Given the description of an element on the screen output the (x, y) to click on. 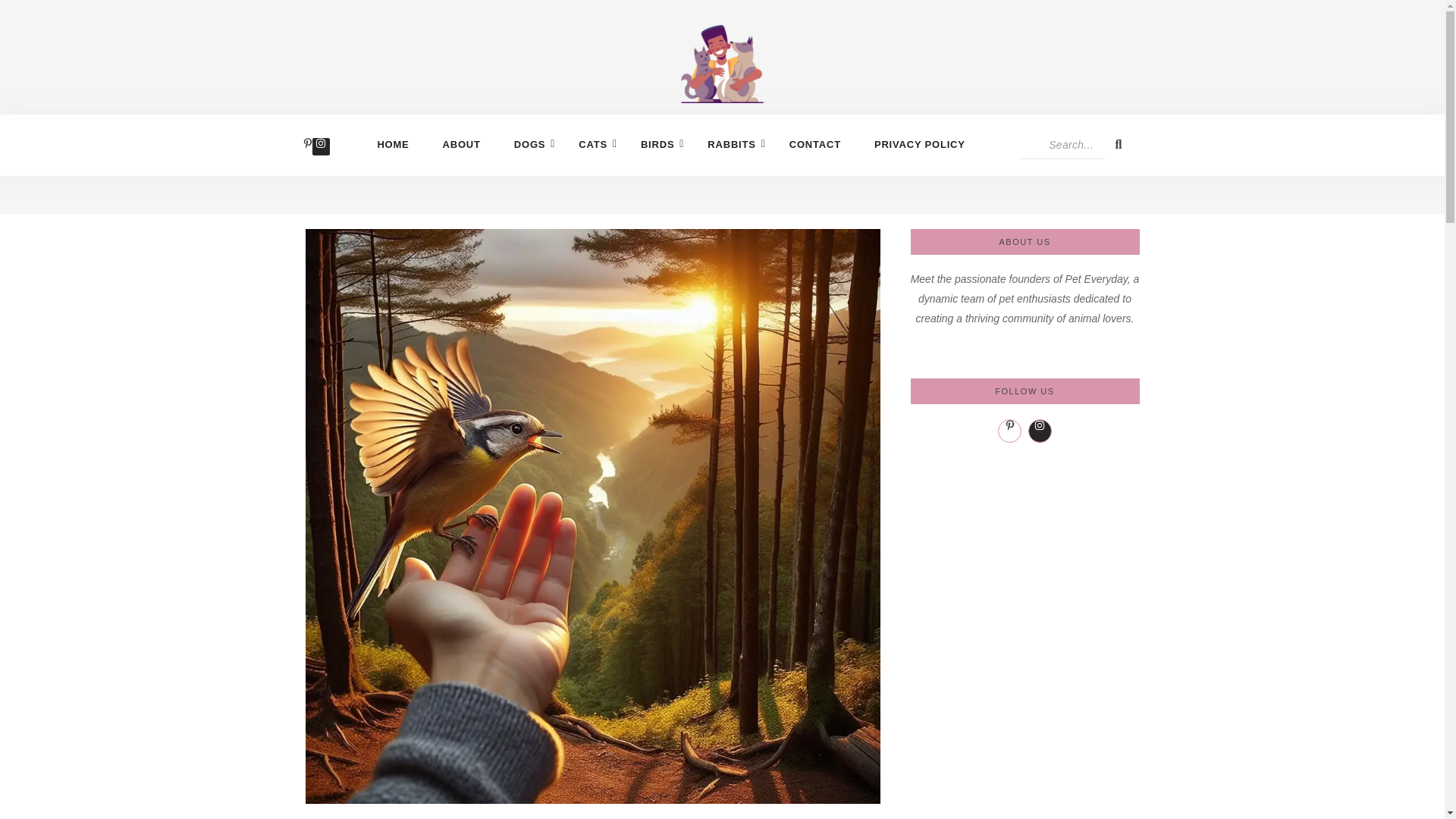
RABBITS (731, 144)
ABOUT (461, 144)
CATS (592, 144)
DOGS (529, 144)
Search (1060, 144)
HOME (392, 144)
Pinterest-p (307, 146)
PRIVACY POLICY (919, 144)
Instagram (321, 146)
BIRDS (656, 144)
